Given the description of an element on the screen output the (x, y) to click on. 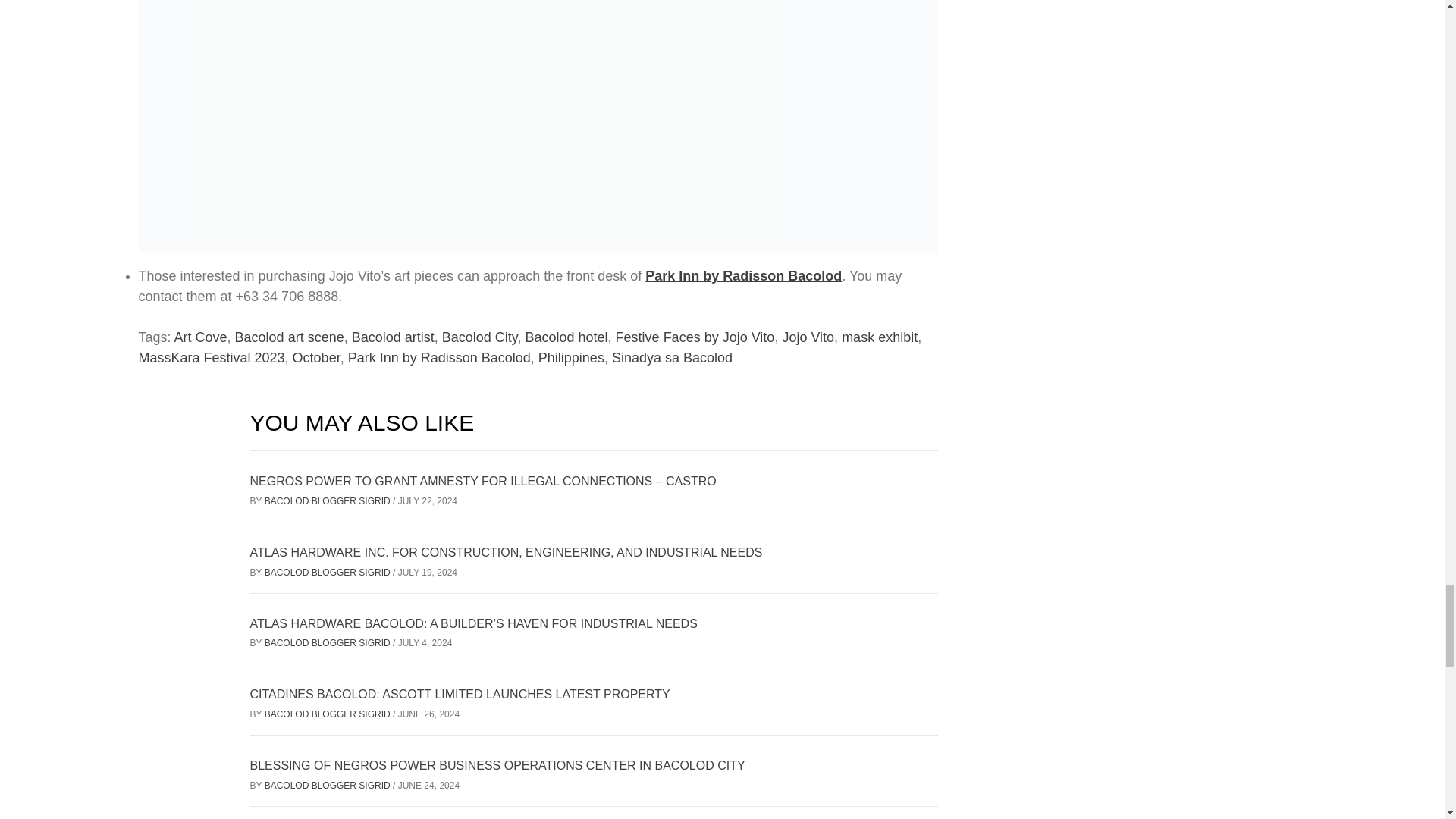
Park Inn by Radisson Bacolod (743, 275)
Art Cove (200, 337)
